Given the description of an element on the screen output the (x, y) to click on. 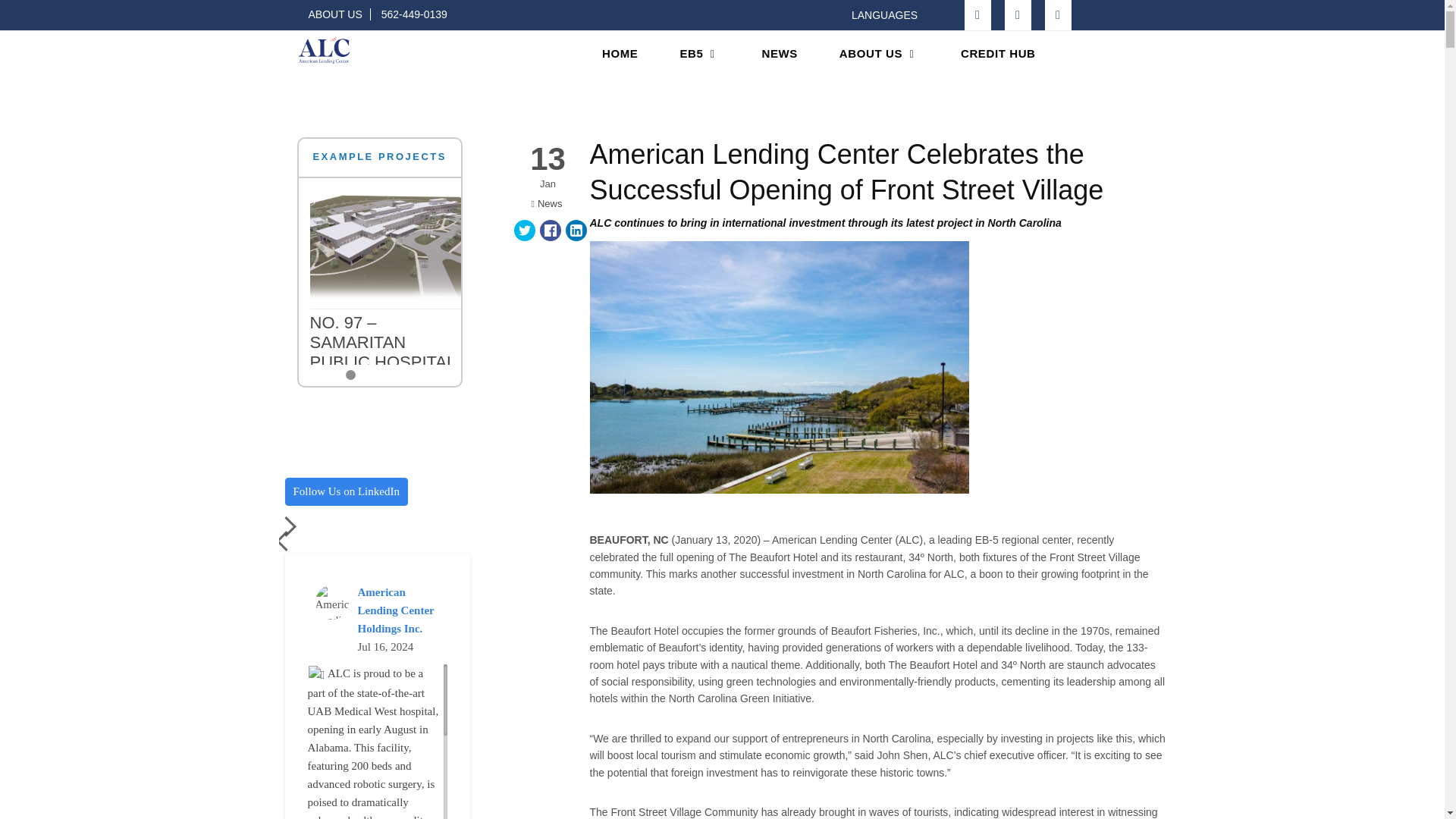
American Lending Center Holdings Inc. (395, 610)
EB5 (698, 53)
HOME (619, 53)
ABOUT US (878, 53)
NEWS (779, 53)
562-449-0139 (414, 14)
ABOUT US (338, 14)
News (549, 204)
CREDIT HUB (998, 53)
LANGUAGES (892, 15)
